Given the description of an element on the screen output the (x, y) to click on. 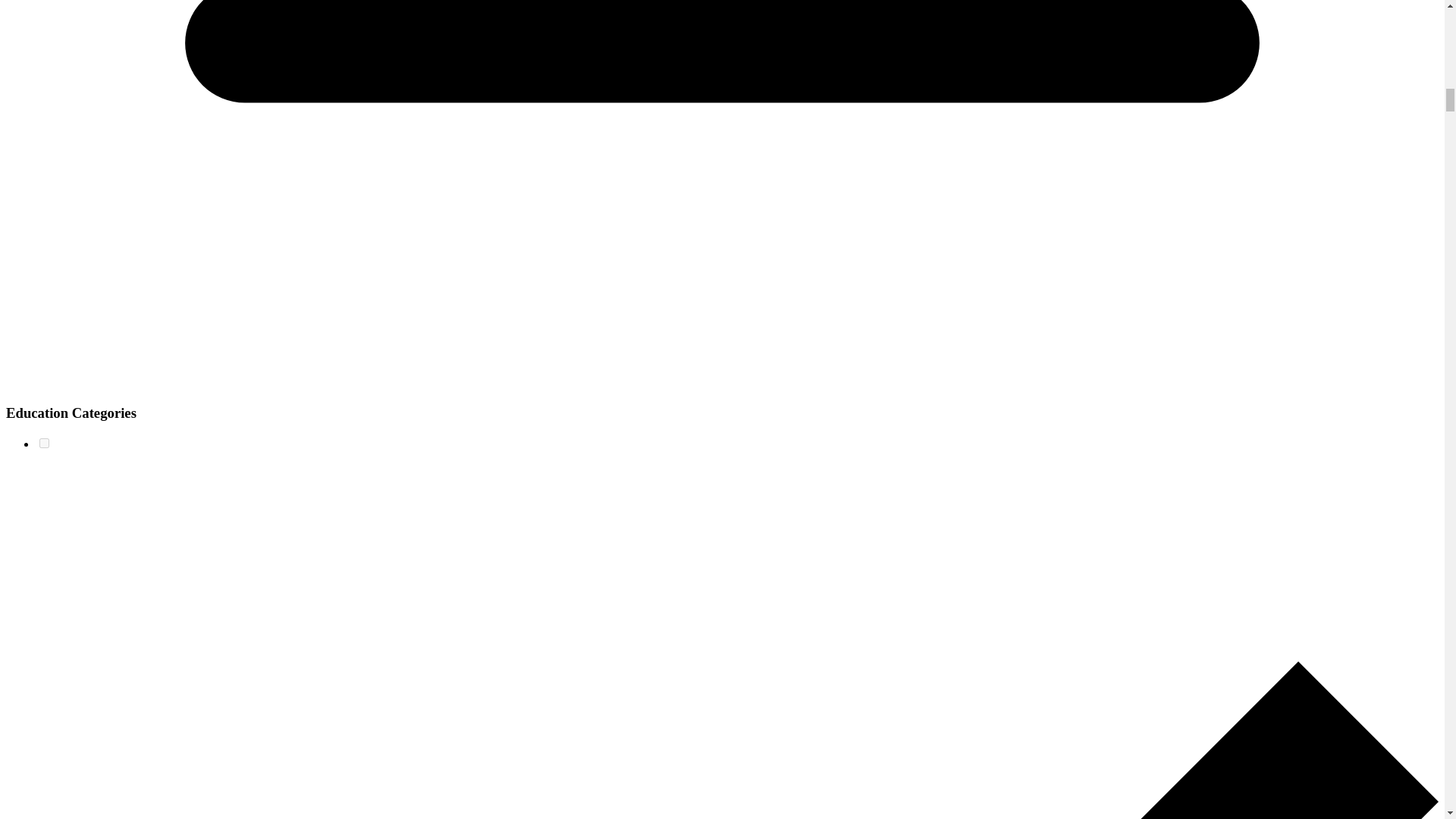
143 (44, 442)
